Given the description of an element on the screen output the (x, y) to click on. 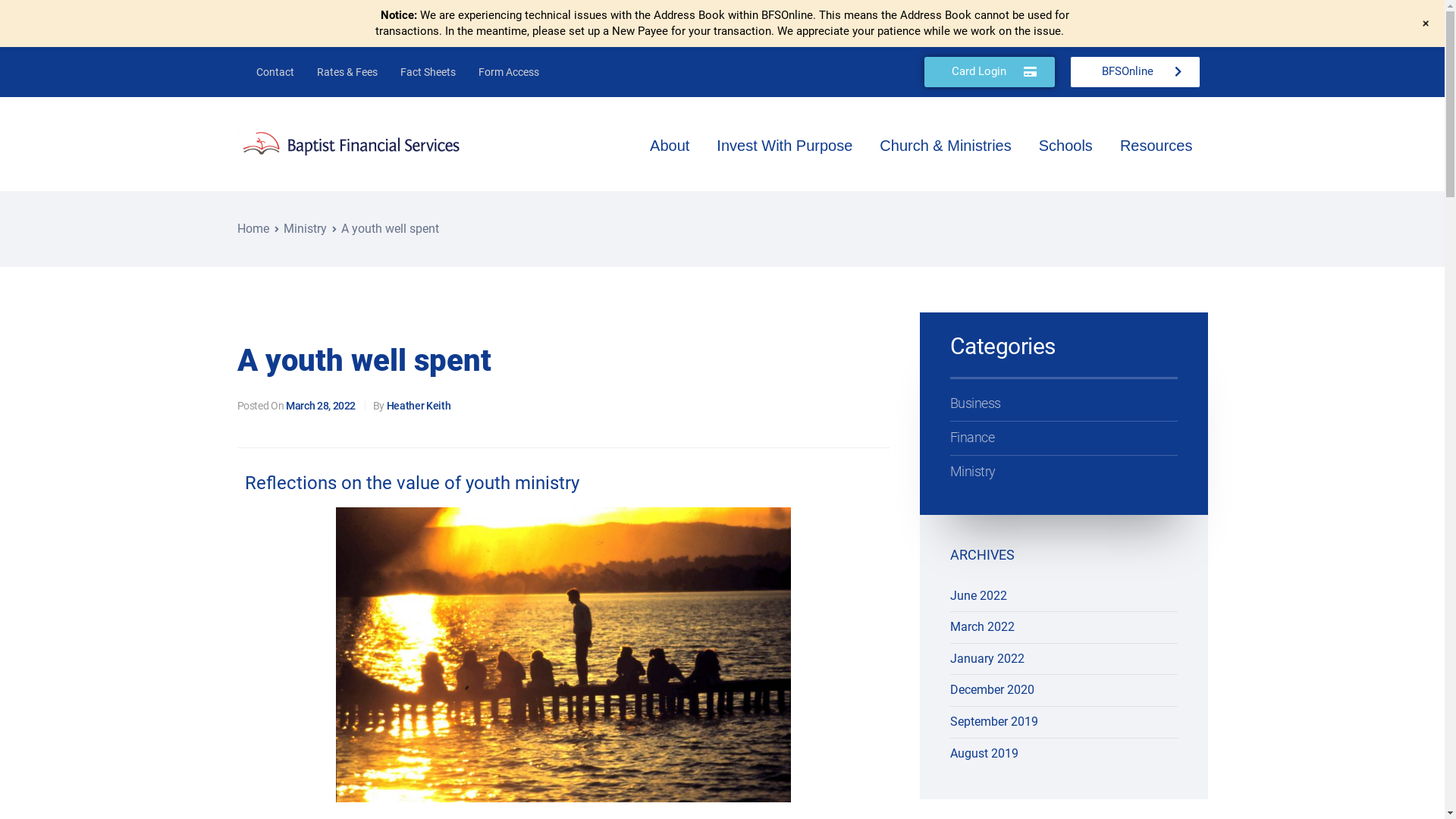
January 2022 Element type: text (986, 658)
Schools Element type: text (1067, 145)
December 2020 Element type: text (991, 689)
March 28, 2022 Element type: text (320, 405)
Resources Element type: text (1156, 145)
Invest With Purpose Element type: text (786, 145)
Form Access Element type: text (508, 71)
August 2019 Element type: text (983, 753)
Church & Ministries Element type: text (947, 145)
Contact Element type: text (274, 71)
Finance Element type: text (1062, 437)
+ Element type: text (1425, 23)
March 2022 Element type: text (981, 626)
September 2019 Element type: text (993, 721)
Ministry Element type: text (1062, 472)
Card Login Element type: text (988, 71)
About Element type: text (671, 145)
Fact Sheets Element type: text (427, 71)
Rates & Fees Element type: text (346, 71)
Heather Keith Element type: text (418, 405)
BFSOnline Element type: text (1134, 71)
Ministry Element type: text (304, 228)
Business Element type: text (1062, 403)
June 2022 Element type: text (977, 595)
Home Element type: text (252, 228)
